Given the description of an element on the screen output the (x, y) to click on. 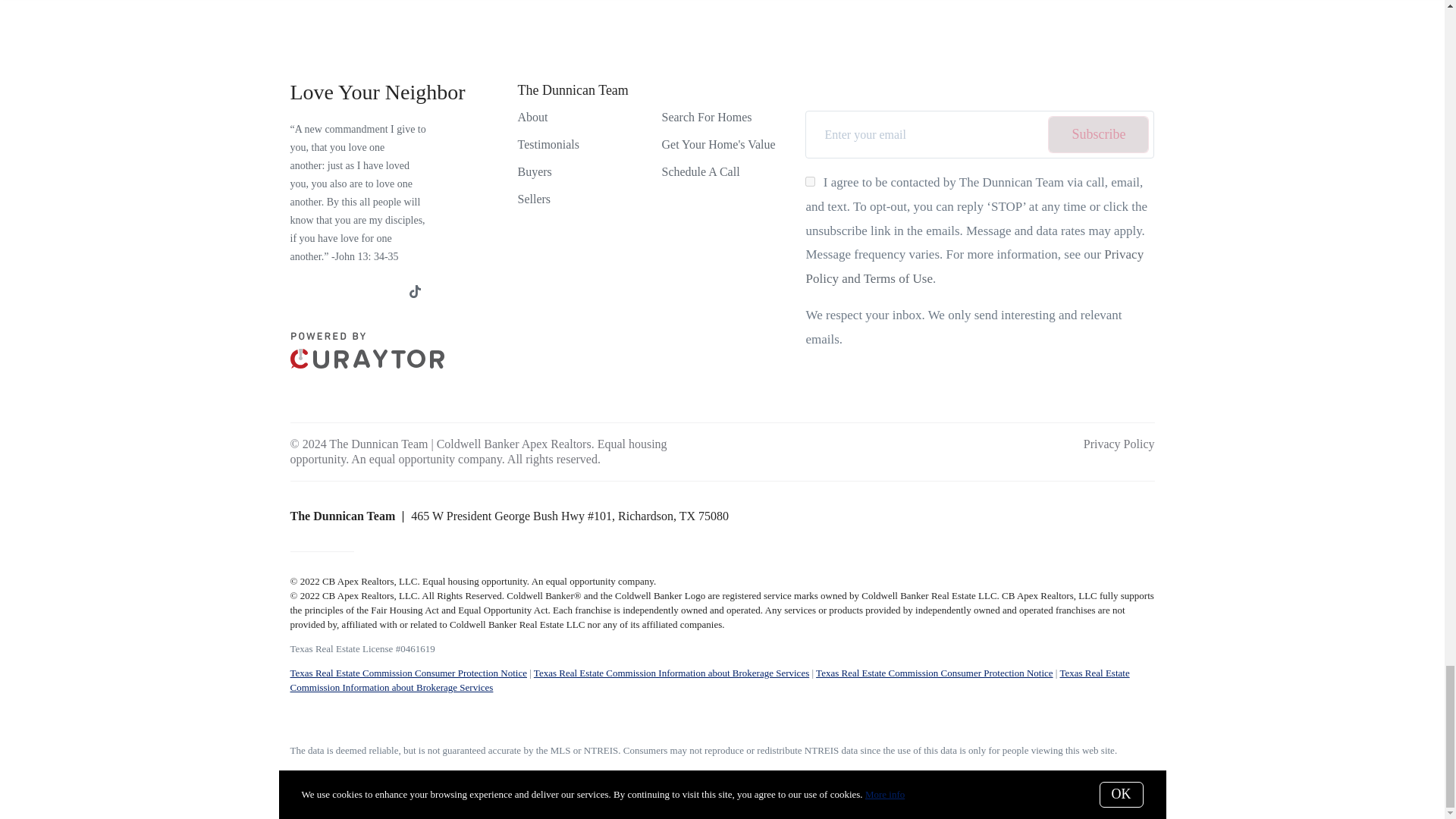
Sellers (533, 198)
curaytor-horizontal (366, 350)
Testimonials (547, 144)
About (531, 116)
Buyers (533, 171)
curaytor-horizontal (366, 364)
on (810, 181)
